Given the description of an element on the screen output the (x, y) to click on. 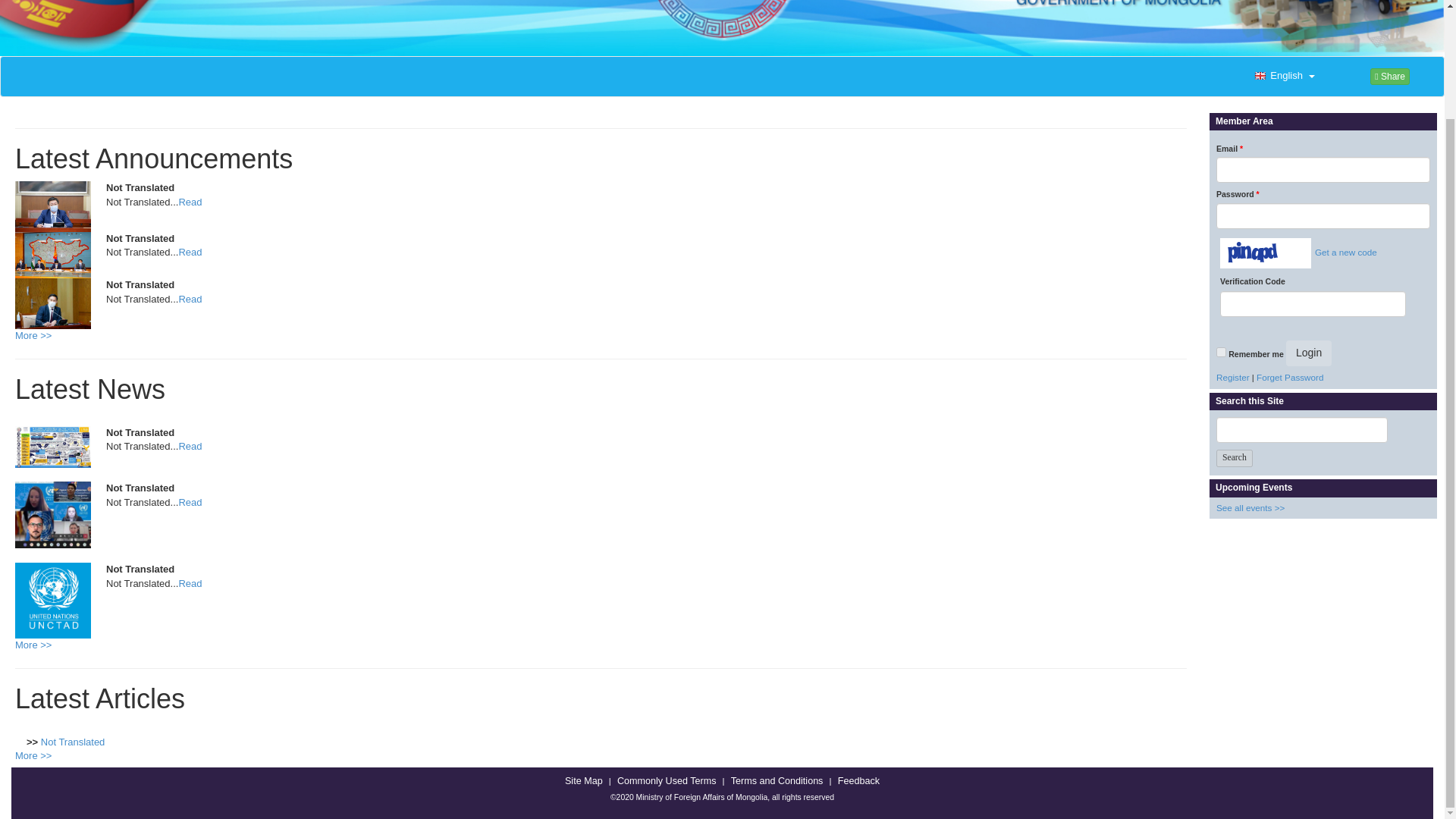
Register (1232, 377)
Login (1308, 353)
Forget Password (1289, 377)
Not Translated (72, 741)
Read (189, 446)
Share (1389, 76)
Search (1233, 457)
Read (189, 251)
English (1282, 76)
Commonly Used Terms (665, 781)
